Given the description of an element on the screen output the (x, y) to click on. 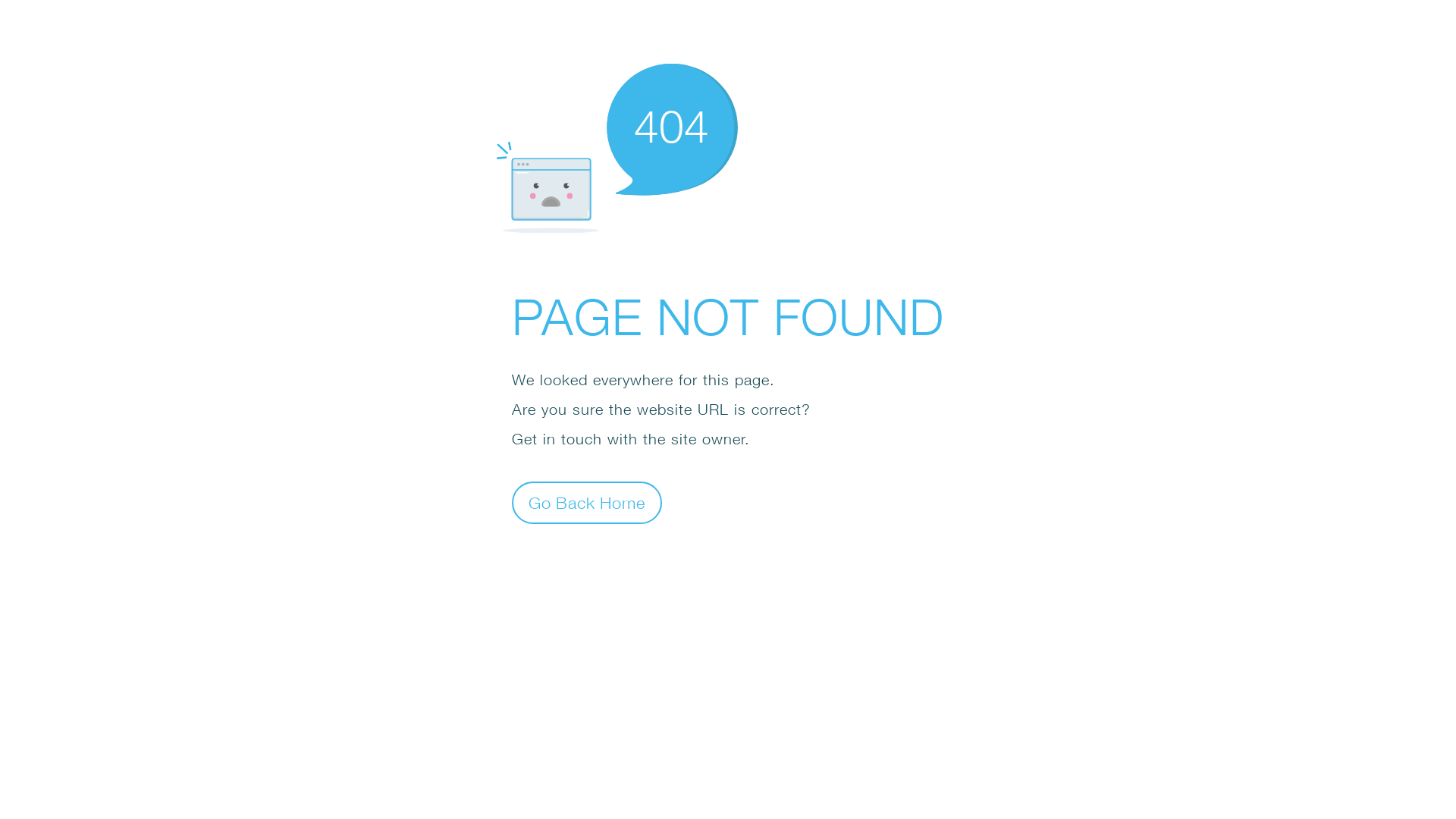
Go Back Home Element type: text (586, 502)
